Given the description of an element on the screen output the (x, y) to click on. 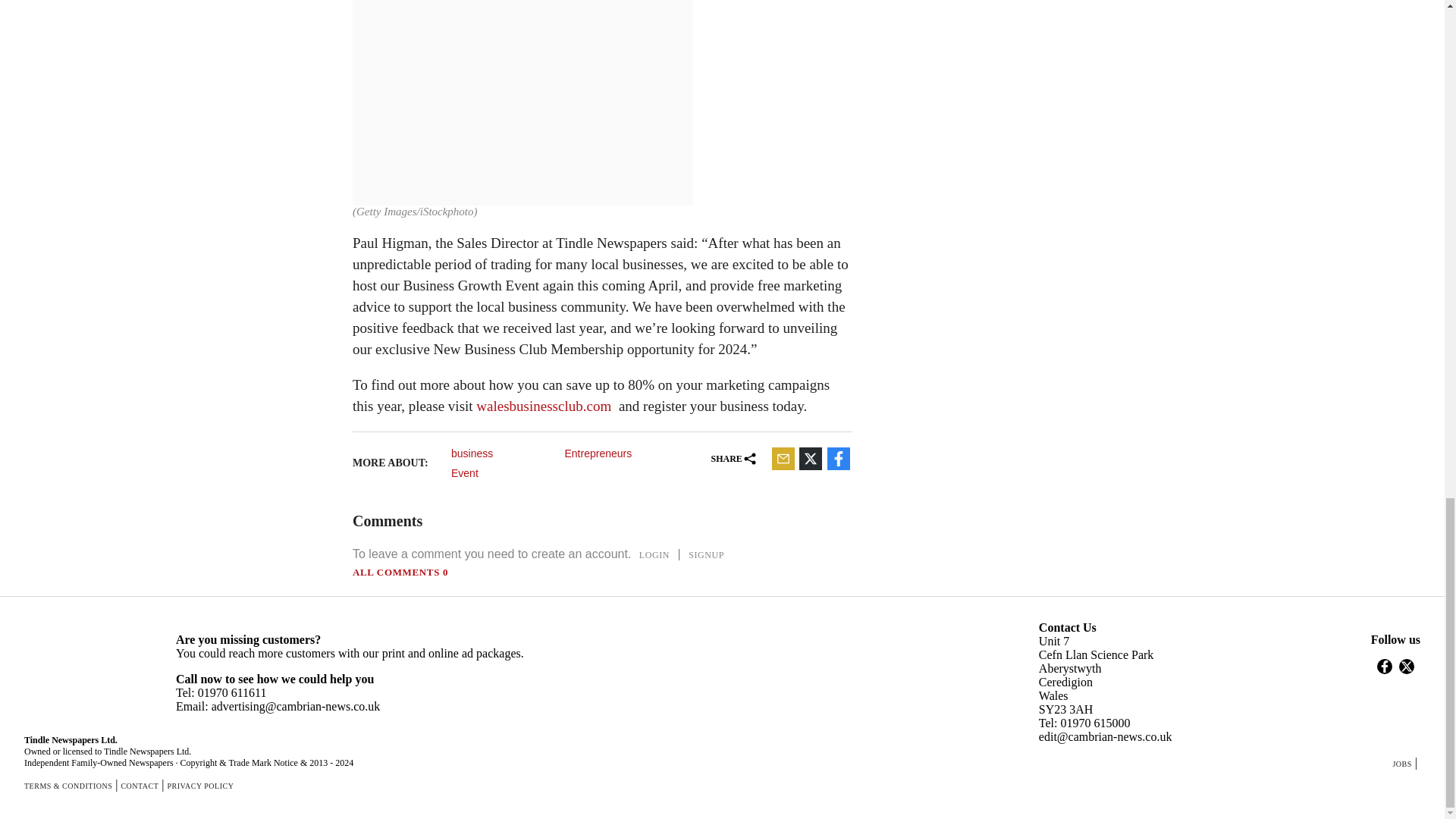
business (502, 453)
Event (502, 472)
walesbusinessclub.com (543, 406)
01970 611611 (232, 692)
SIGNUP (706, 554)
LOGIN (654, 554)
Entrepreneurs (615, 453)
